Given the description of an element on the screen output the (x, y) to click on. 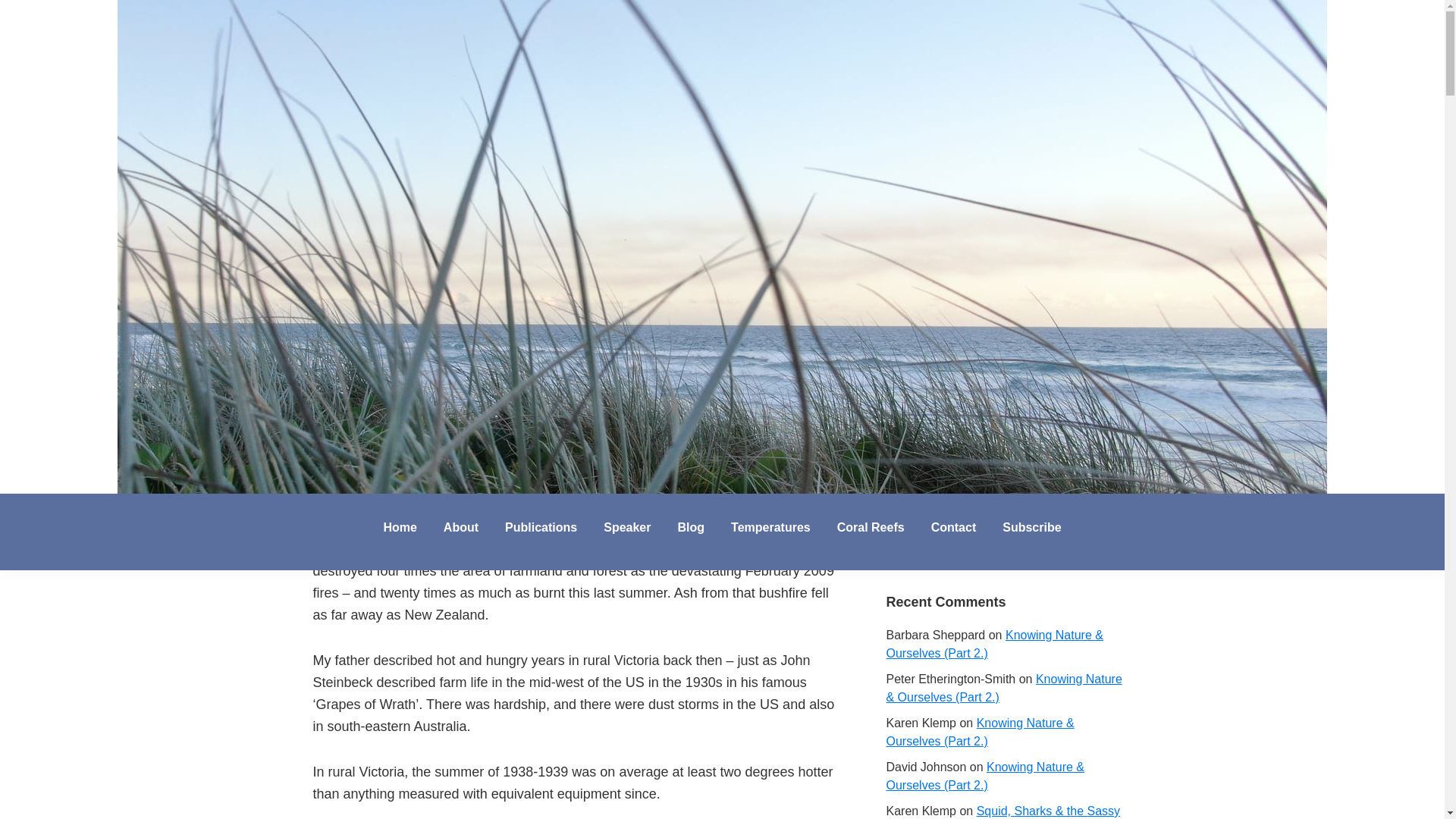
Share (389, 370)
Publications (540, 527)
Temperatures (770, 527)
About (460, 527)
Share (443, 370)
Subscribe (1031, 527)
Jennifer Marohasy (150, 508)
Blog (690, 527)
Home (399, 527)
Contact (954, 527)
Share (337, 370)
jennifer (437, 337)
